Given the description of an element on the screen output the (x, y) to click on. 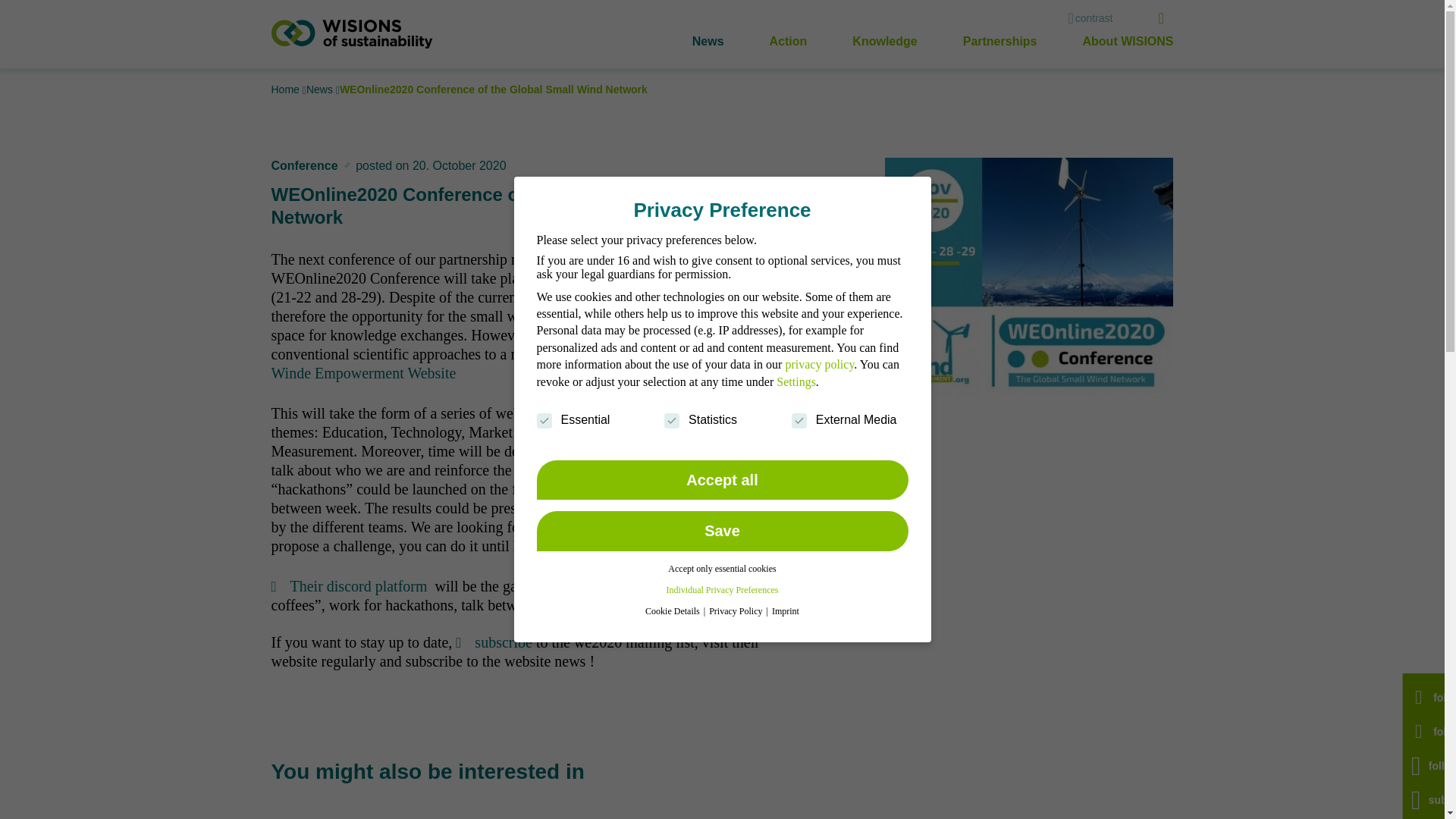
About WISIONS (1128, 41)
Knowledge (884, 41)
News (320, 89)
WISIONS (351, 33)
WISIONS (351, 33)
WEOnline2020 Conference of the Global Small Wind Network (493, 89)
Partnerships (999, 41)
Home (286, 89)
News (708, 41)
subscribe (493, 641)
